Given the description of an element on the screen output the (x, y) to click on. 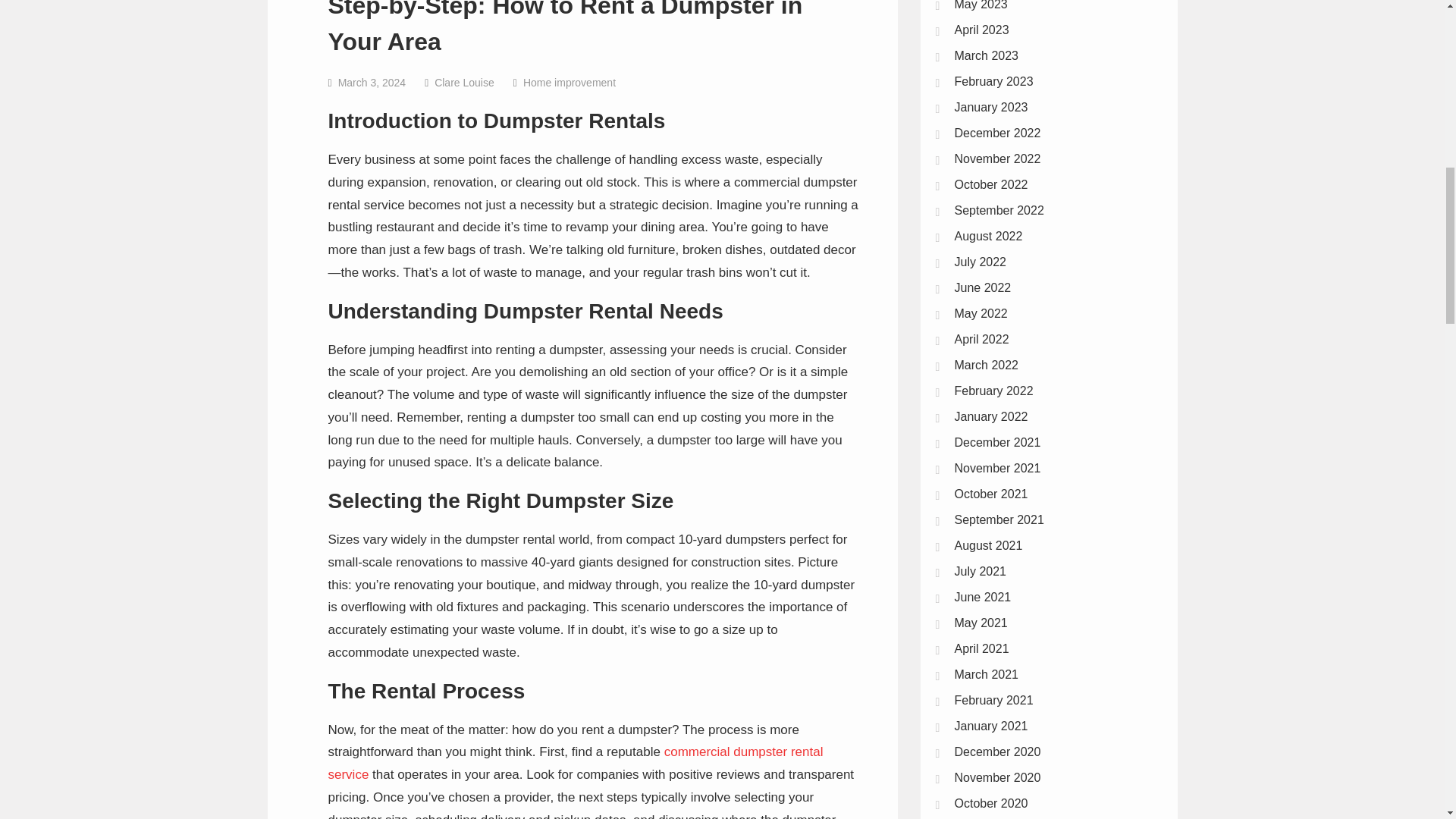
commercial dumpster rental service (574, 763)
March 3, 2024 (371, 82)
Home improvement (568, 82)
Clare Louise (464, 82)
